Given the description of an element on the screen output the (x, y) to click on. 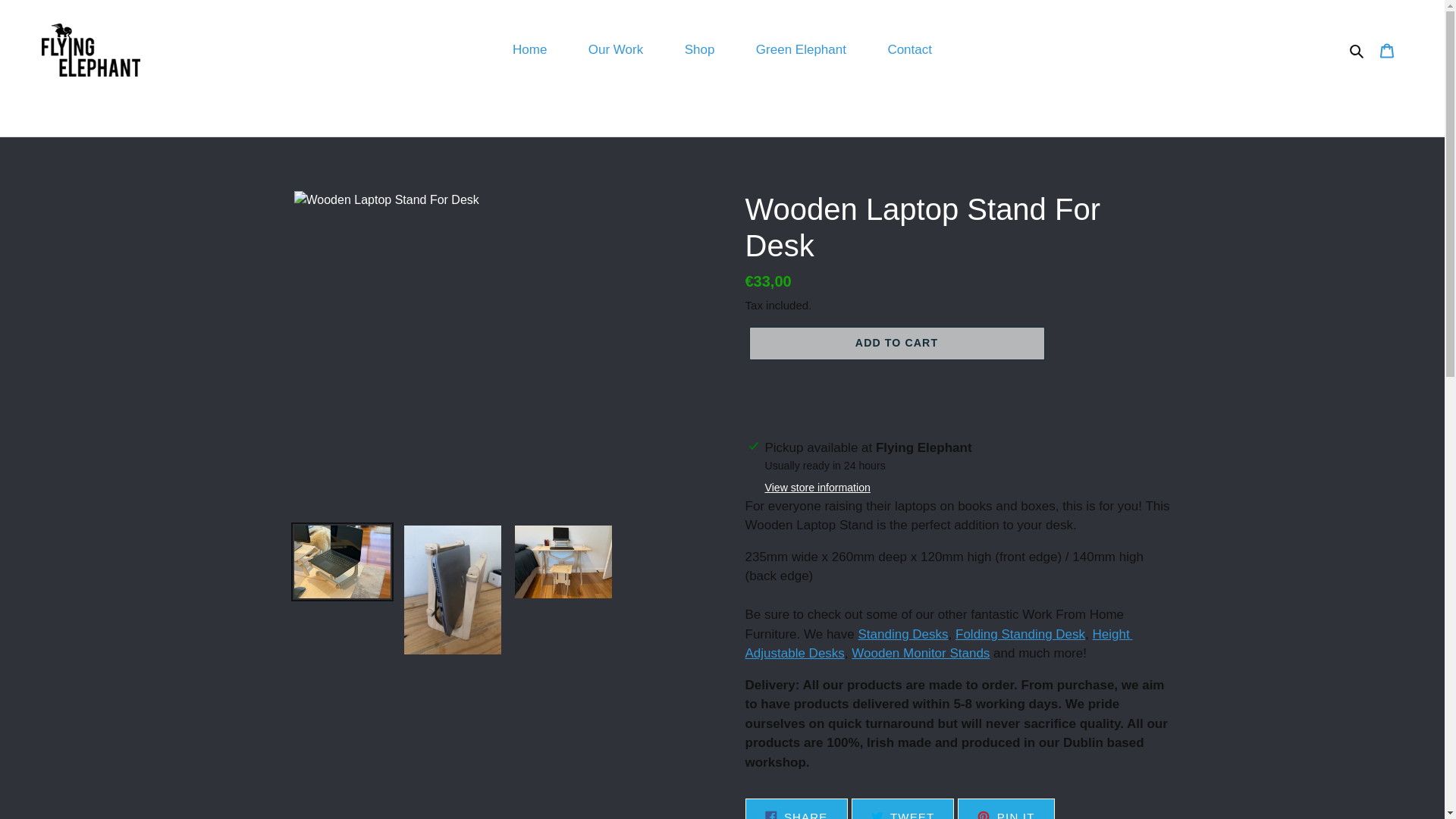
View store information (816, 487)
Our Work (615, 49)
Height Adjustable Desks (795, 808)
Cart (938, 644)
Contact (903, 808)
Green Elephant (1387, 49)
Folding Standing Desk (909, 49)
Home (800, 49)
Search (1019, 634)
Standing Desks (529, 49)
Shop (1357, 49)
Wooden Monitor Stands (902, 634)
